Given the description of an element on the screen output the (x, y) to click on. 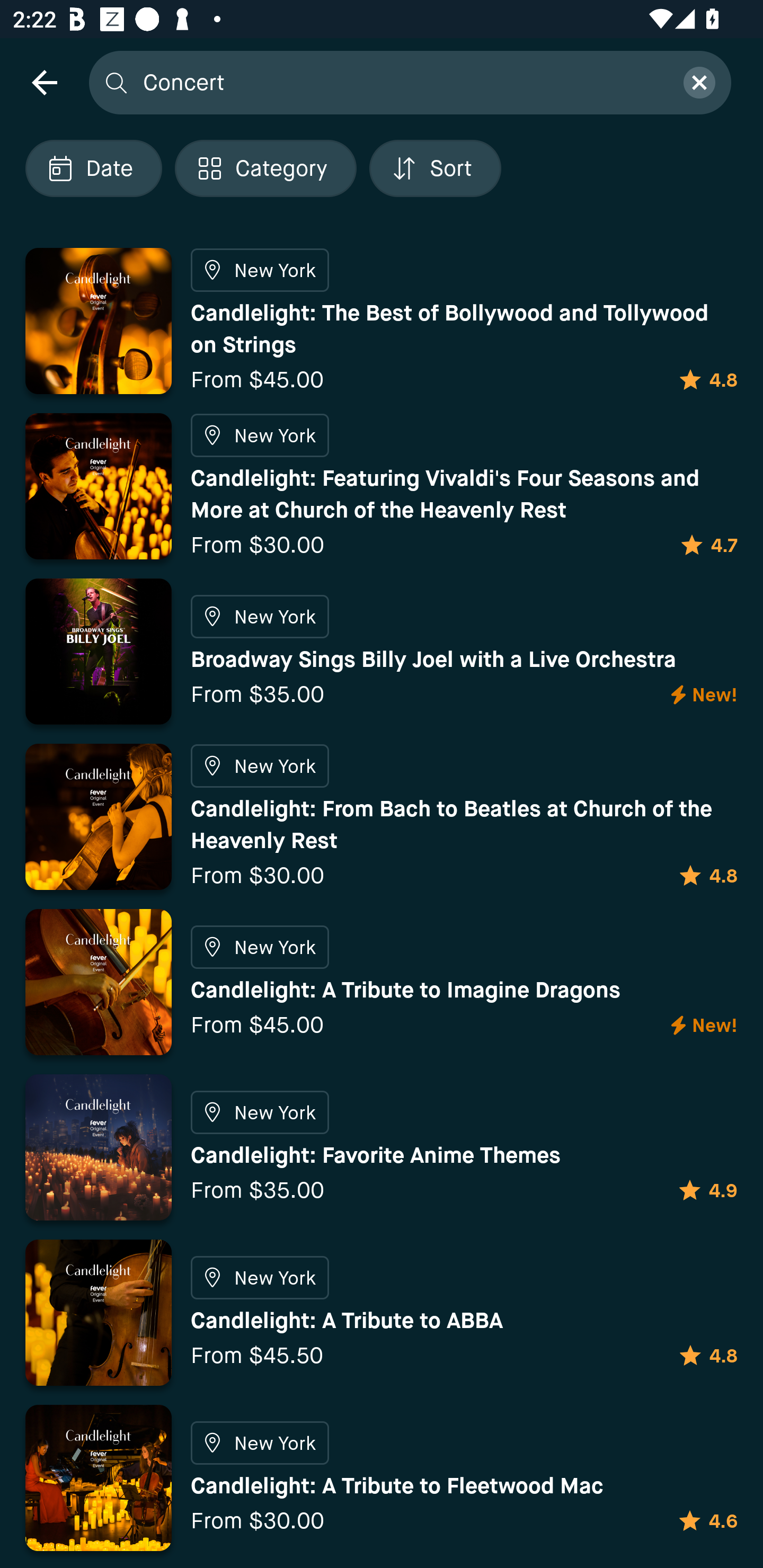
navigation icon (44, 81)
Concert (402, 81)
Localized description Date (93, 168)
Localized description Category (265, 168)
Localized description Sort (435, 168)
